Given the description of an element on the screen output the (x, y) to click on. 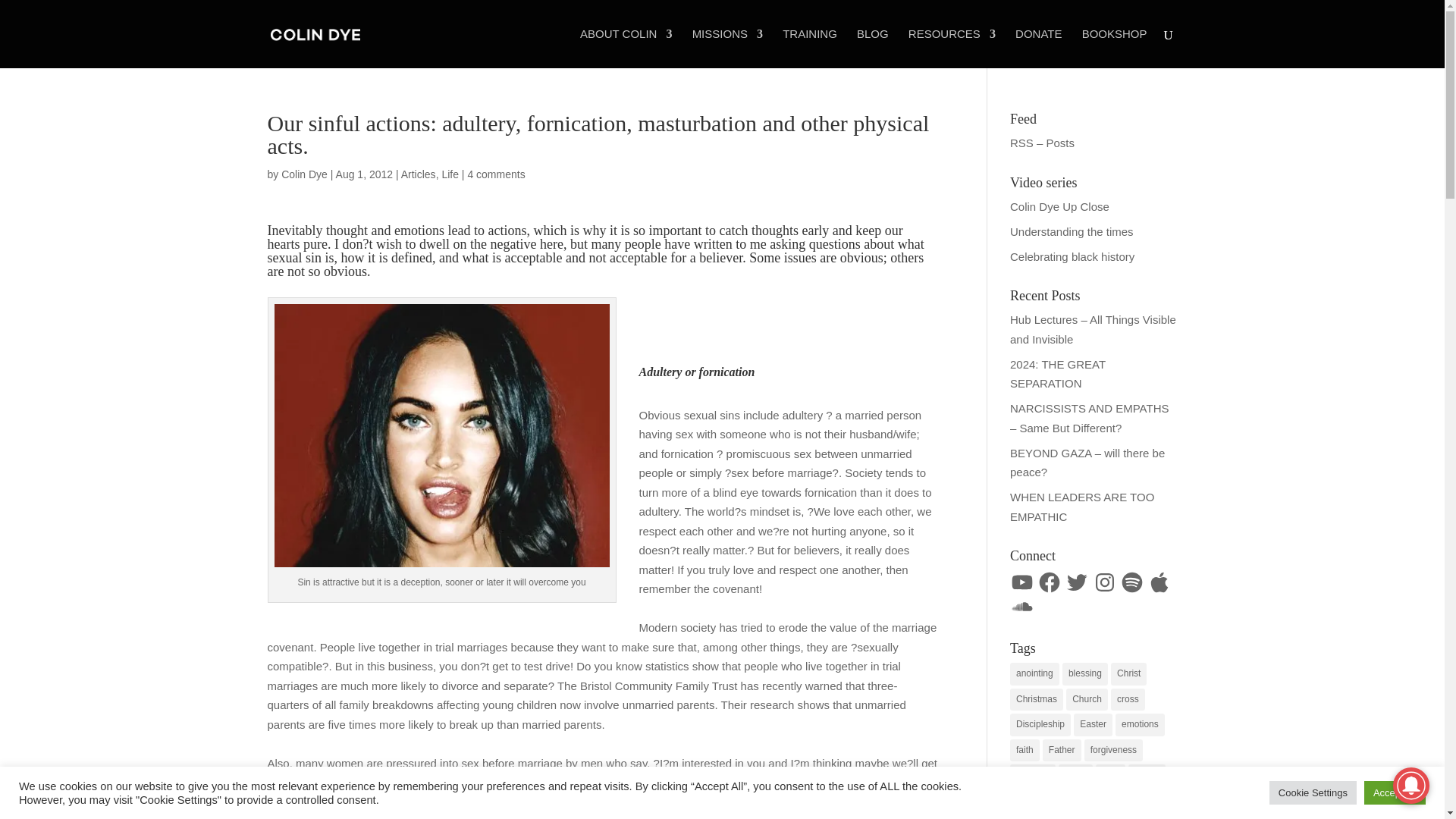
BOOKSHOP (1114, 47)
Posts by Colin Dye (304, 174)
Colin Dye (304, 174)
Subscribe to posts (1042, 142)
RESOURCES (951, 47)
MISSIONS (727, 47)
TRAINING (810, 47)
DONATE (1037, 47)
ABOUT COLIN (625, 47)
